Given the description of an element on the screen output the (x, y) to click on. 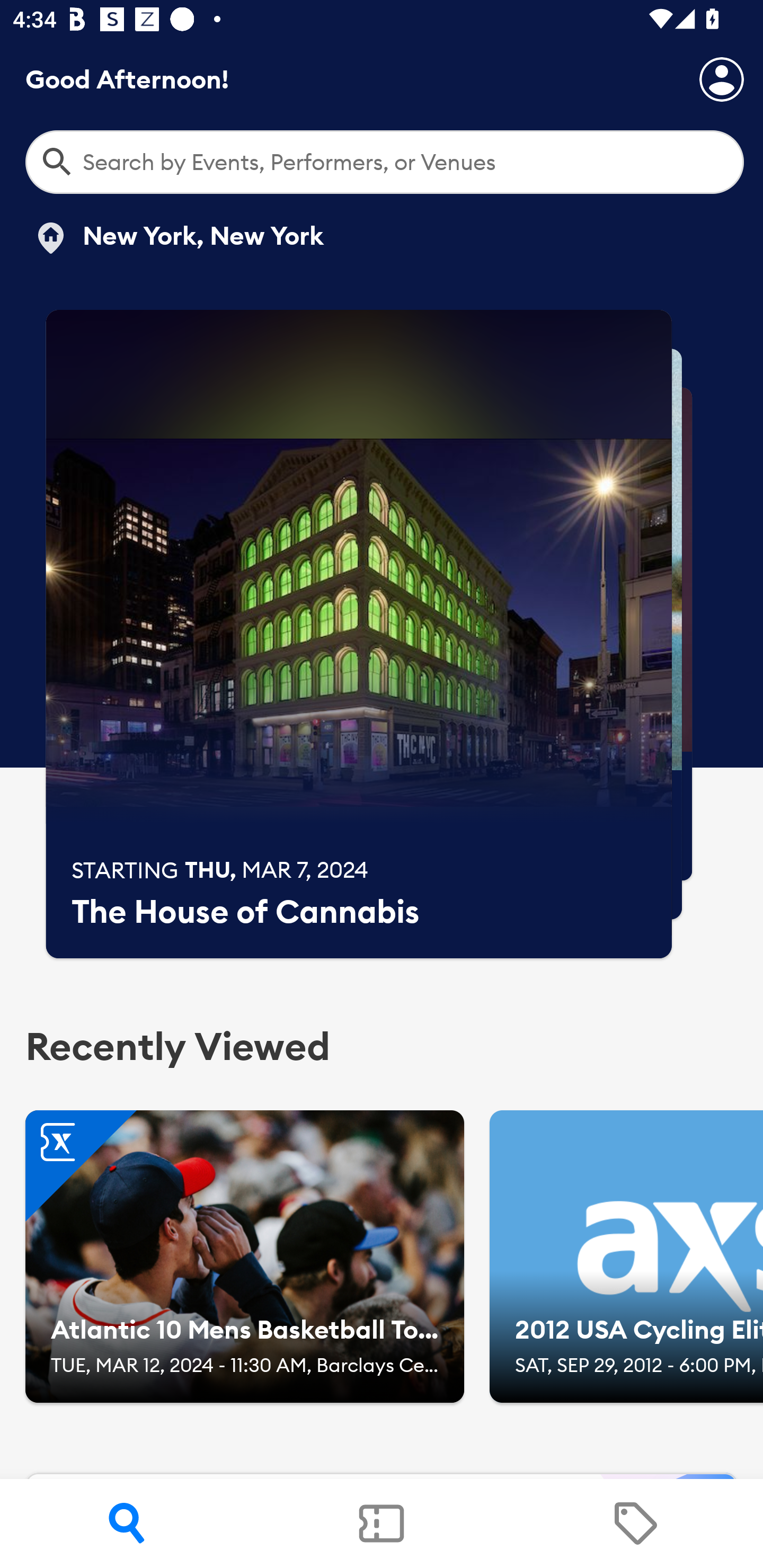
UserIcon (721, 78)
Search by Events, Performers, or Venues (384, 161)
New York, New York (177, 237)
STARTING THU, MAR 7, 2024 The House of Cannabis (358, 634)
Menu Item: Tickets (381, 1523)
Menu Item: Resale (635, 1523)
